Given the description of an element on the screen output the (x, y) to click on. 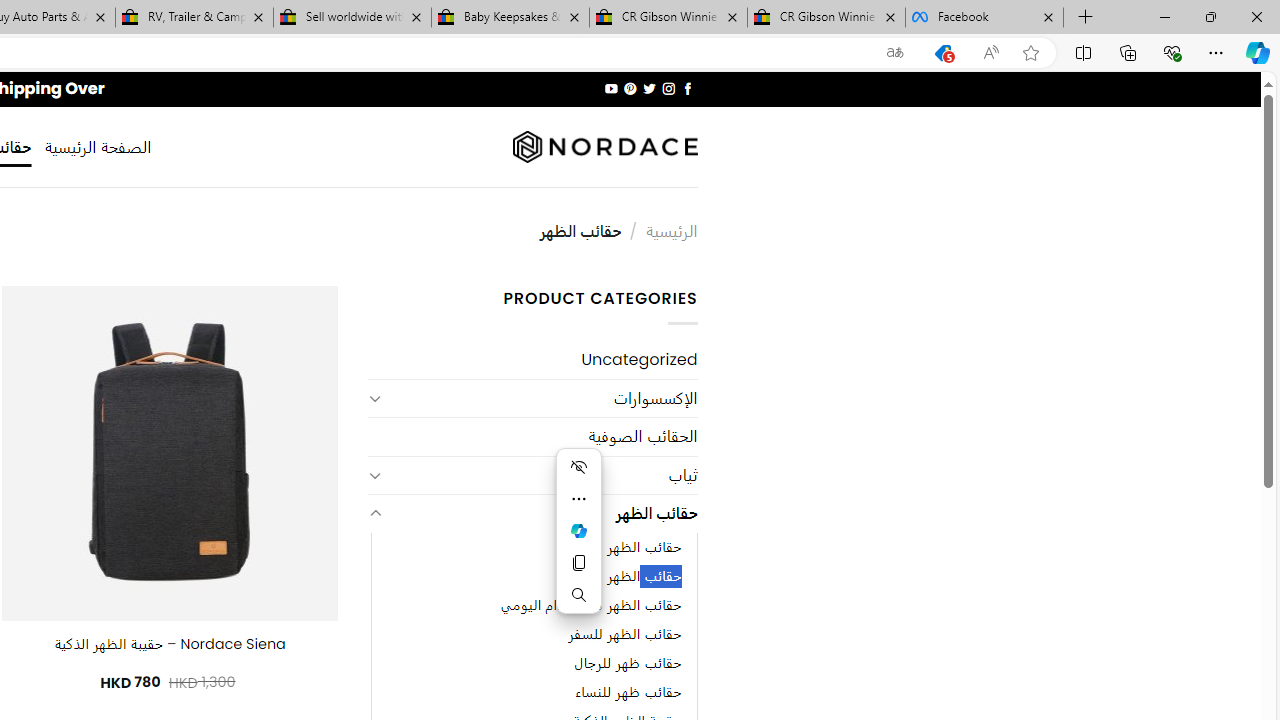
Hide menu (578, 466)
Show translate options (895, 53)
Sell worldwide with eBay (352, 17)
Baby Keepsakes & Announcements for sale | eBay (509, 17)
Ask Copilot (578, 530)
Copy (578, 562)
Mini menu on text selection (578, 530)
